Given the description of an element on the screen output the (x, y) to click on. 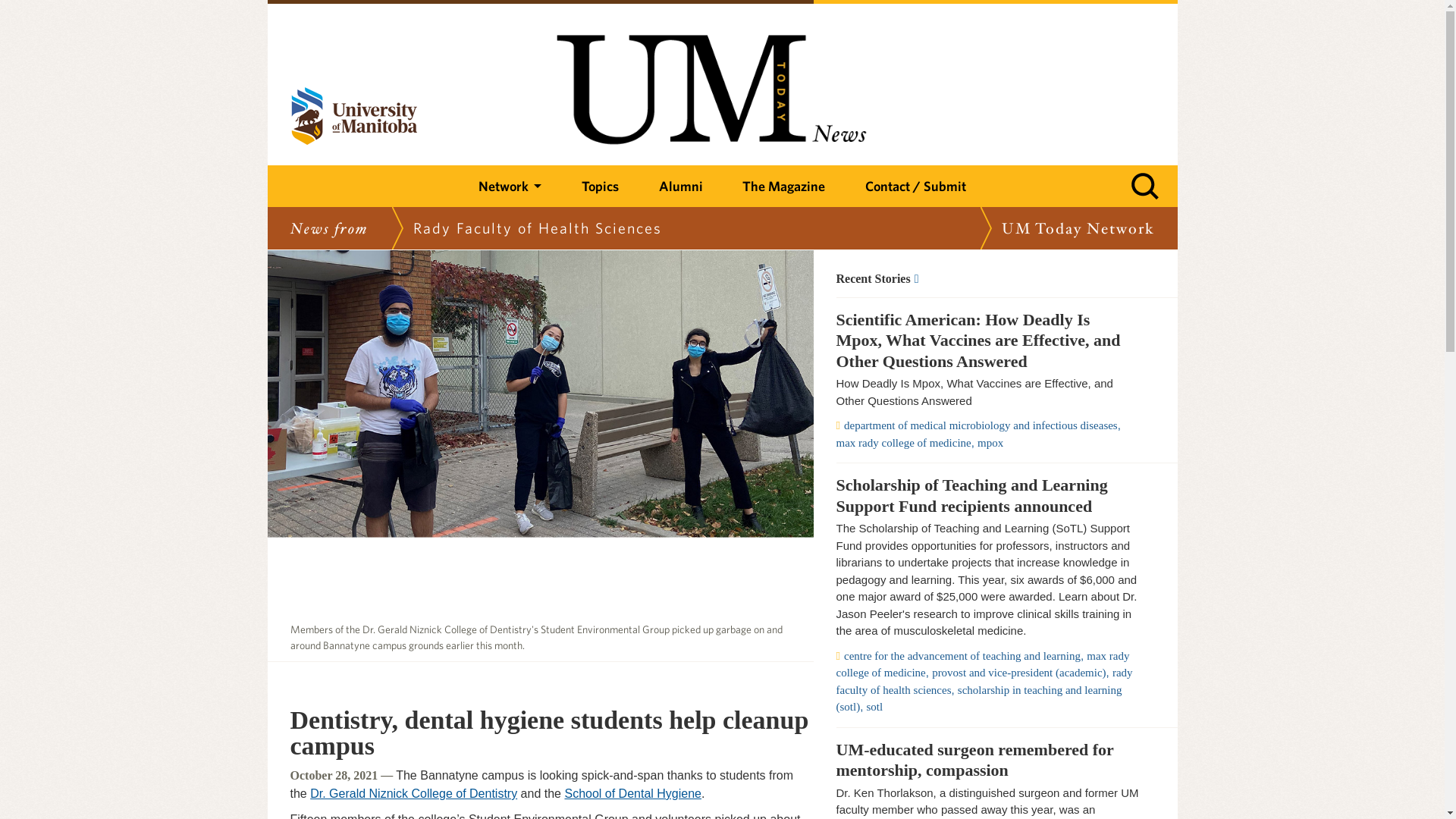
UM-educated surgeon remembered for mentorship, compassion (986, 760)
News Archives (986, 278)
Network (510, 186)
